Given the description of an element on the screen output the (x, y) to click on. 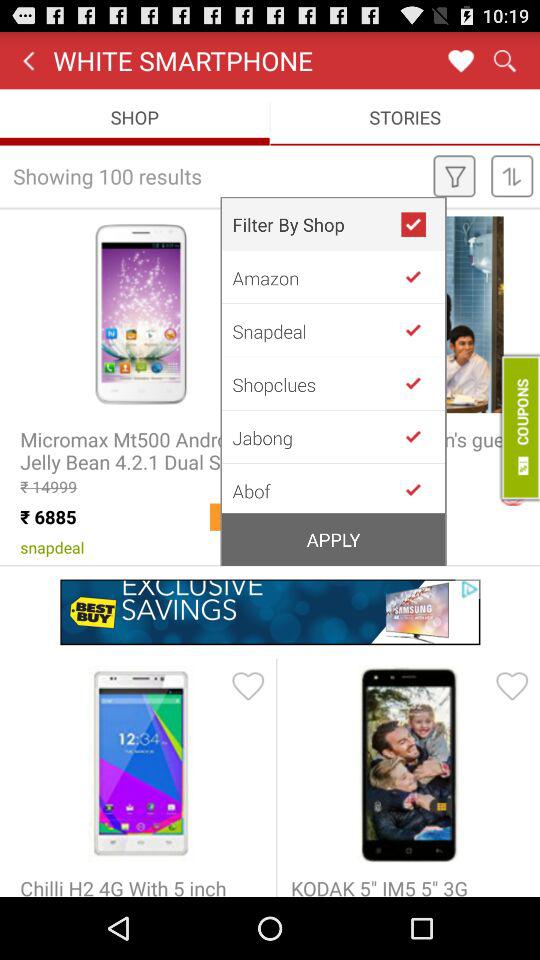
choose the jabong app (316, 437)
